Given the description of an element on the screen output the (x, y) to click on. 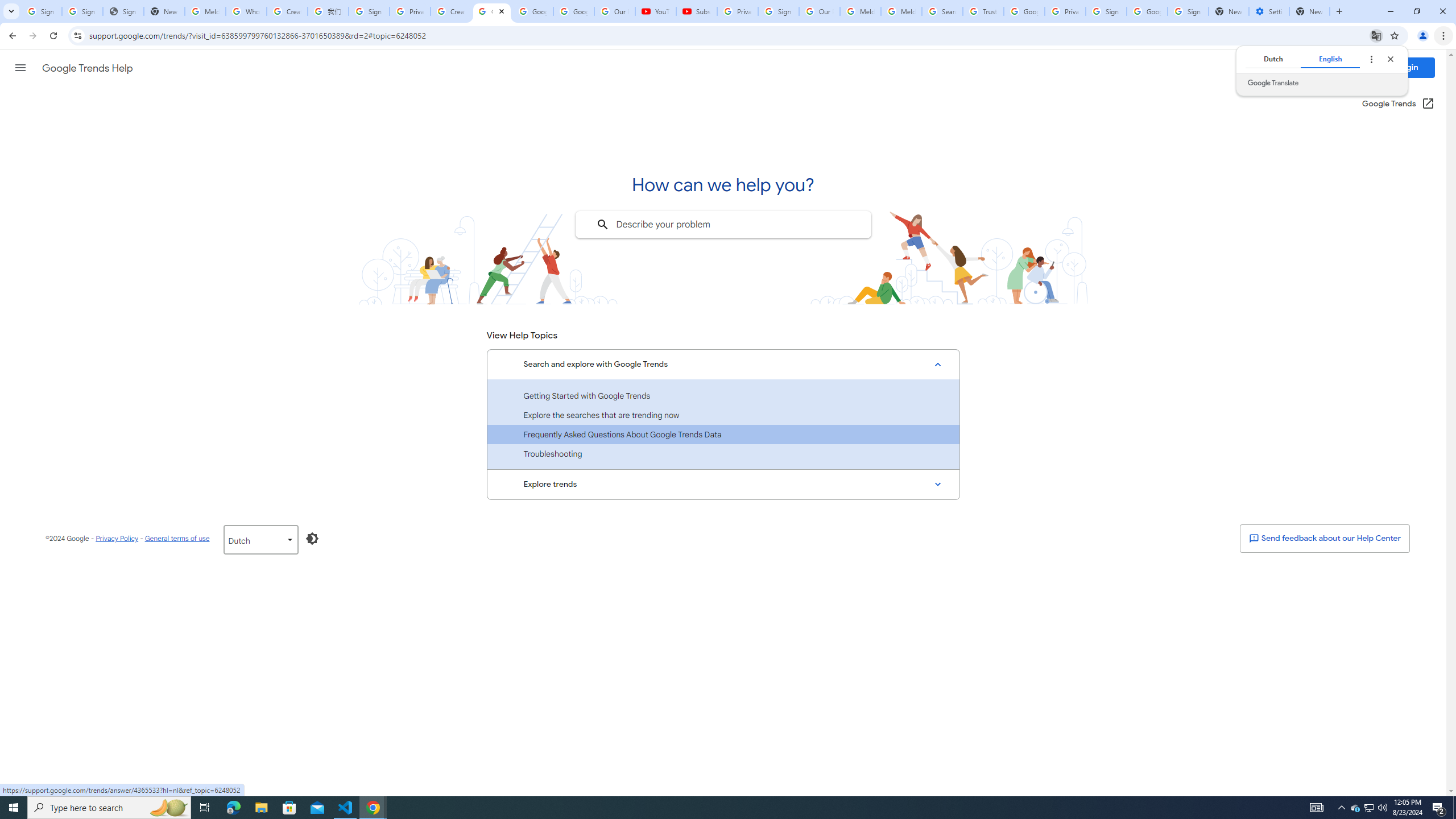
Explore trends (722, 484)
Sign in - Google Accounts (1187, 11)
Dutch (1272, 58)
Troubleshooting (722, 453)
Getting Started with Google Trends (722, 395)
Explore the searches that are trending now (722, 415)
Frequently Asked Questions About Google Trends Data (722, 434)
Enable dark mode (312, 538)
Translate this page (1376, 35)
